Given the description of an element on the screen output the (x, y) to click on. 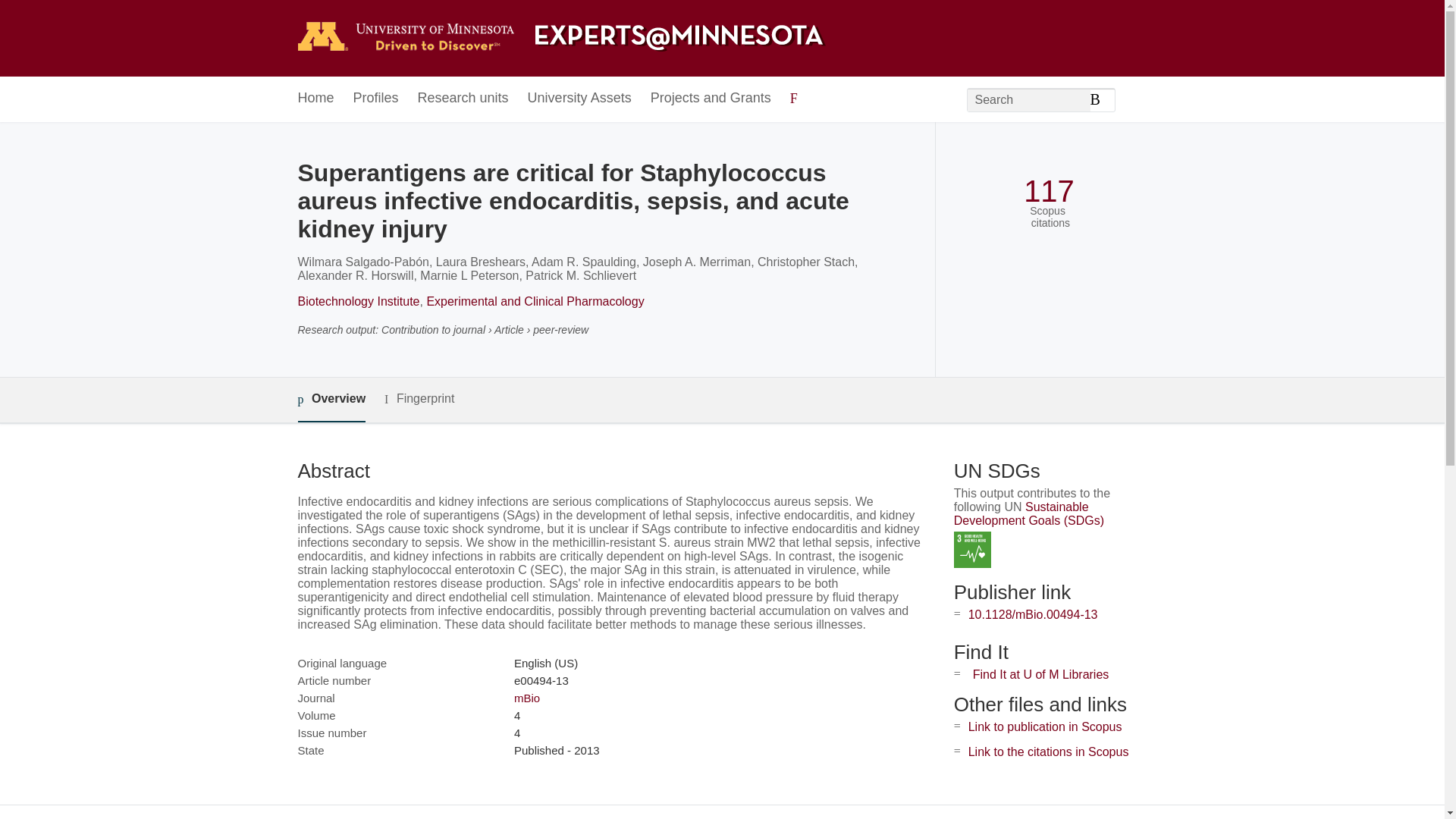
117 (1048, 191)
Projects and Grants (710, 98)
Research units (462, 98)
Biotechnology Institute (358, 300)
Experimental and Clinical Pharmacology (534, 300)
Link to publication in Scopus (1045, 726)
Find It at U of M Libraries (1040, 674)
University Assets (579, 98)
Overview (331, 399)
mBio (526, 697)
Fingerprint (419, 398)
Link to the citations in Scopus (1048, 751)
SDG 3 - Good Health and Well-being (972, 549)
Profiles (375, 98)
